Given the description of an element on the screen output the (x, y) to click on. 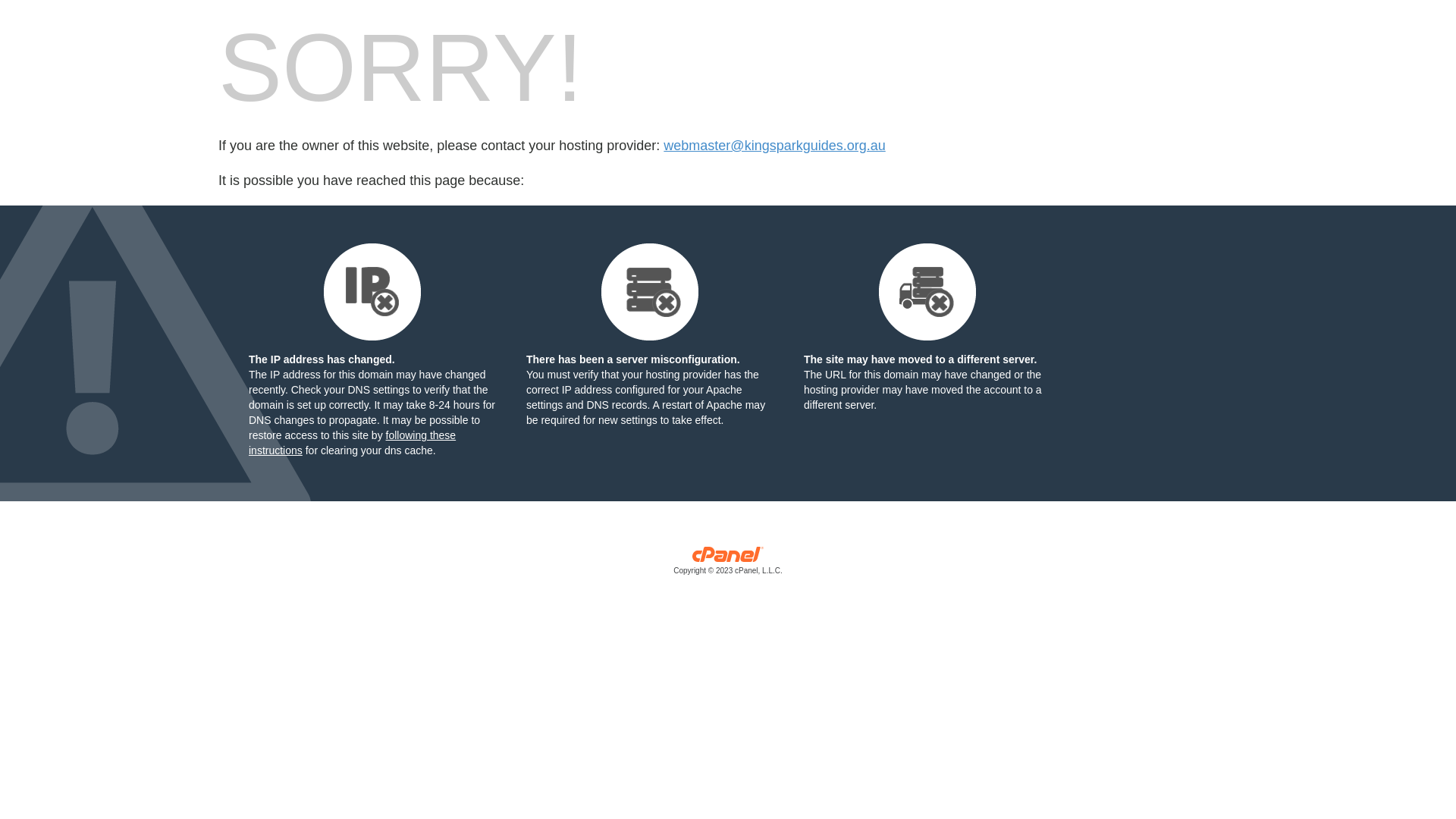
webmaster@kingsparkguides.org.au Element type: text (773, 145)
following these instructions Element type: text (351, 442)
